Given the description of an element on the screen output the (x, y) to click on. 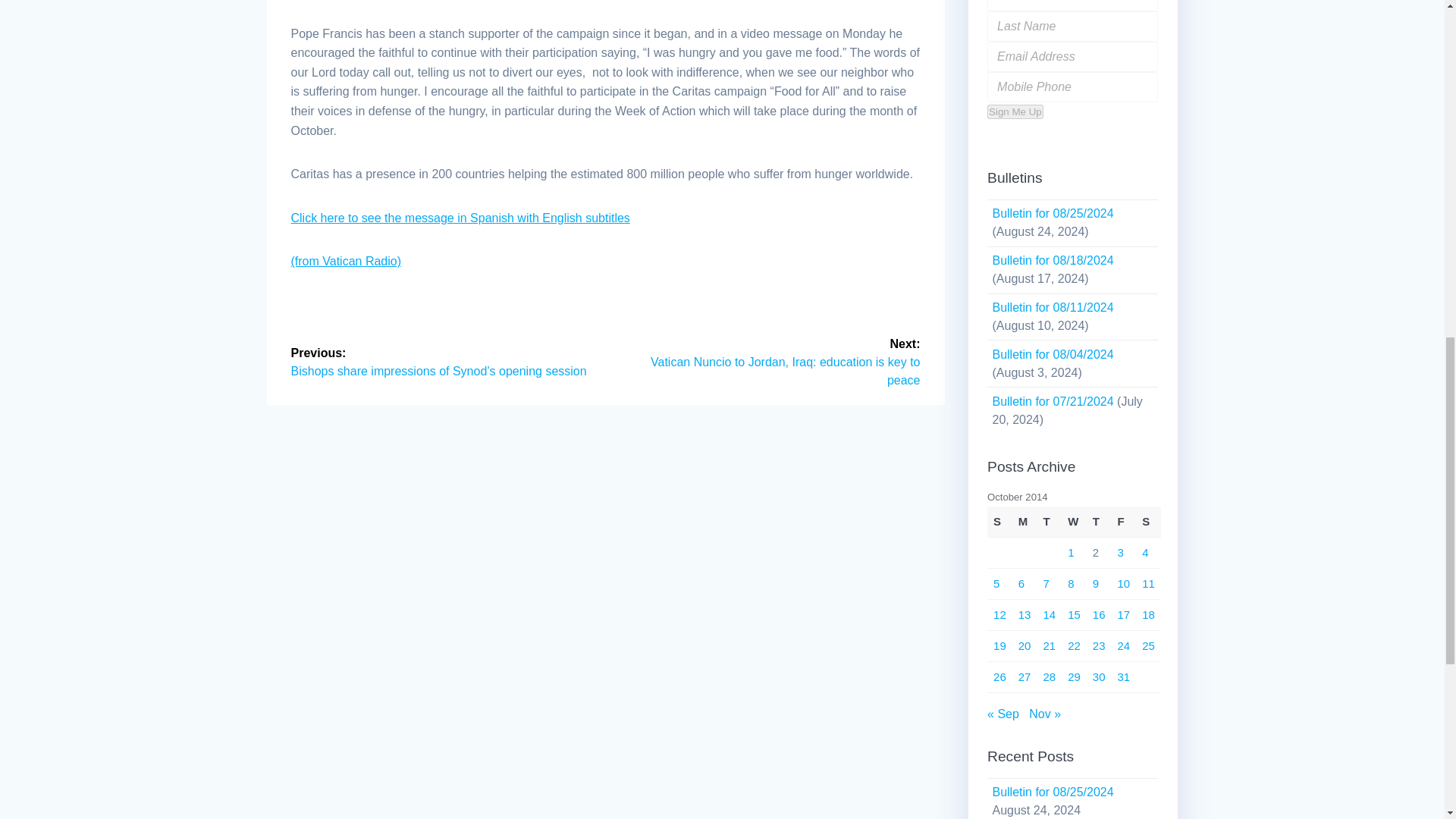
Sign Me Up (1015, 111)
